Given the description of an element on the screen output the (x, y) to click on. 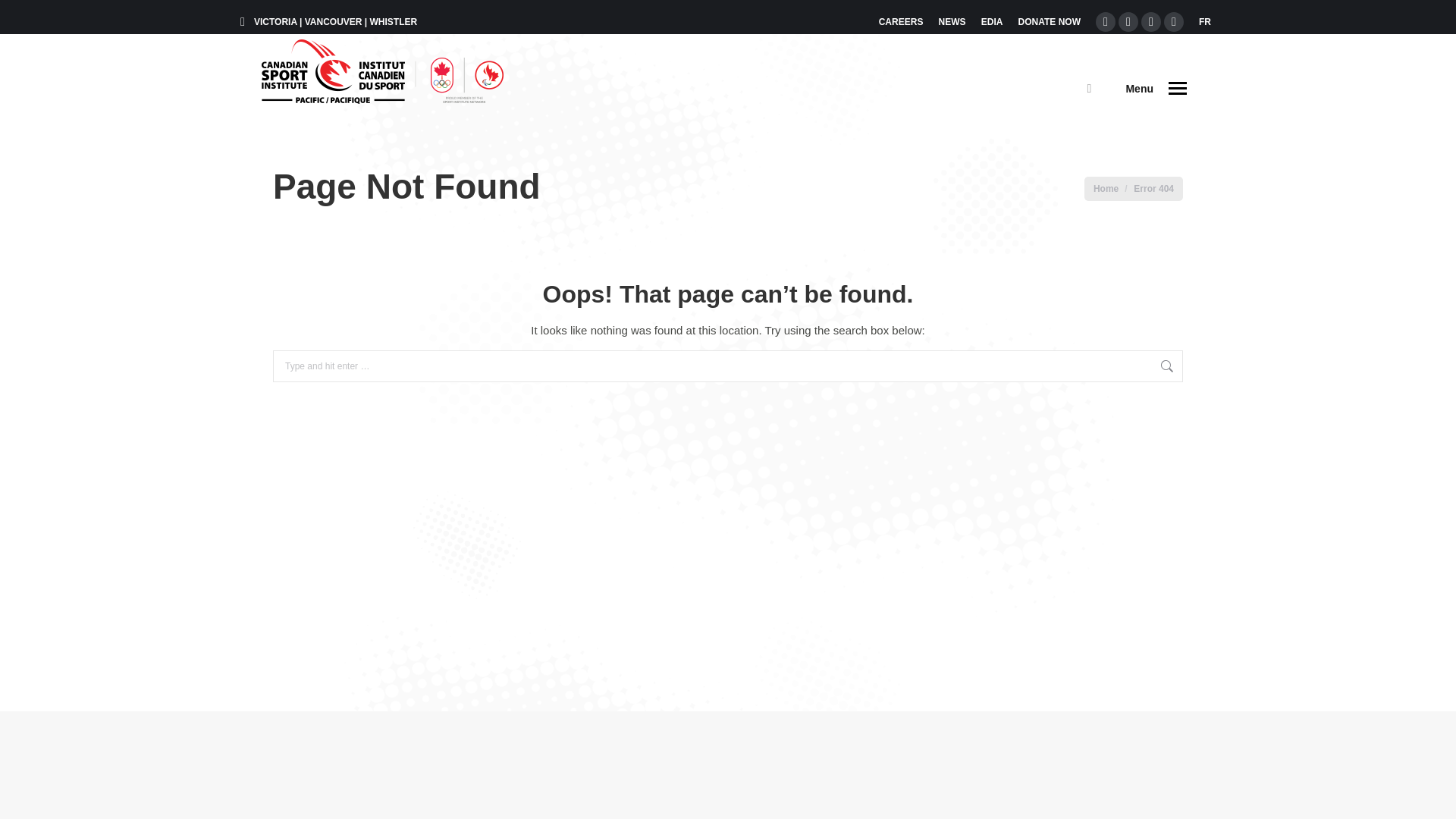
Go! (1203, 363)
X page opens in new window (1128, 21)
Instagram page opens in new window (1150, 21)
YouTube page opens in new window (1173, 21)
Facebook page opens in new window (1105, 21)
Go! (1203, 363)
